Given the description of an element on the screen output the (x, y) to click on. 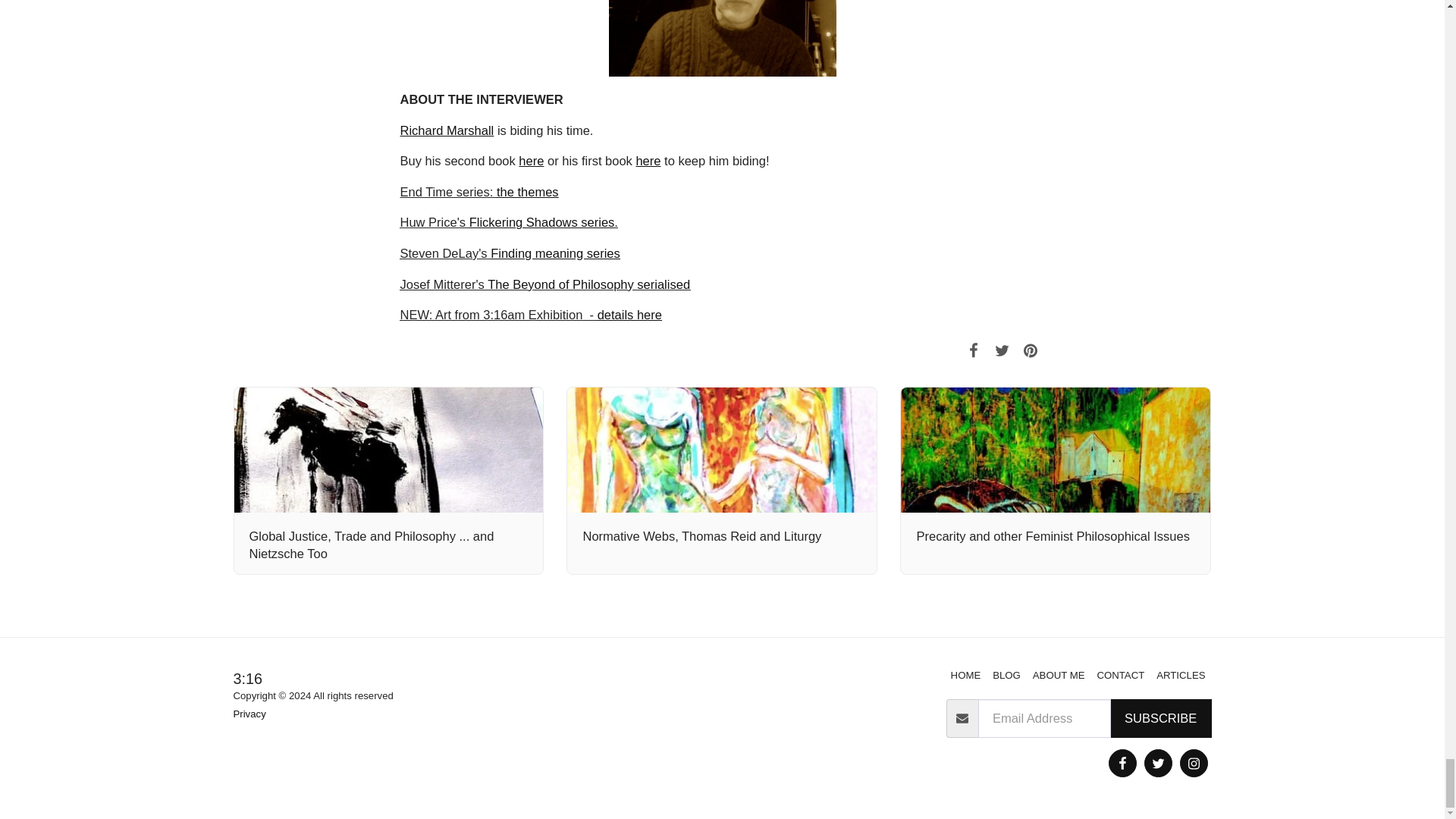
the themes (527, 192)
Flickering Shadows series (541, 222)
Pin it (1029, 350)
Share on Facebook (973, 350)
Richard Marshall (447, 130)
here (647, 160)
Tweet (1002, 350)
here (530, 160)
